Given the description of an element on the screen output the (x, y) to click on. 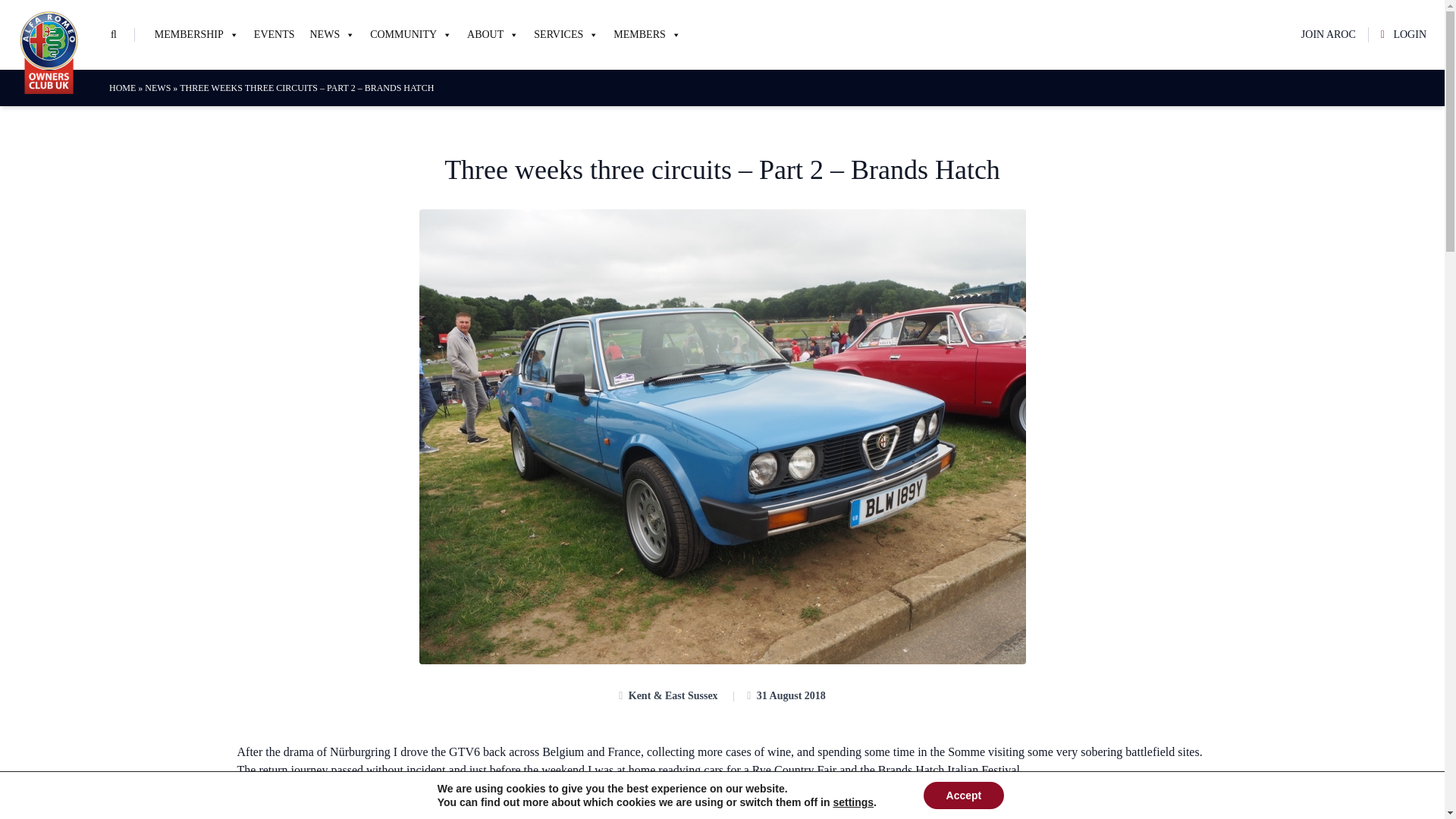
EVENTS (274, 34)
SERVICES (565, 34)
Search (32, 13)
ABOUT (492, 34)
MEMBERSHIP (196, 34)
Login (435, 555)
NEWS (331, 34)
COMMUNITY (411, 34)
